Given the description of an element on the screen output the (x, y) to click on. 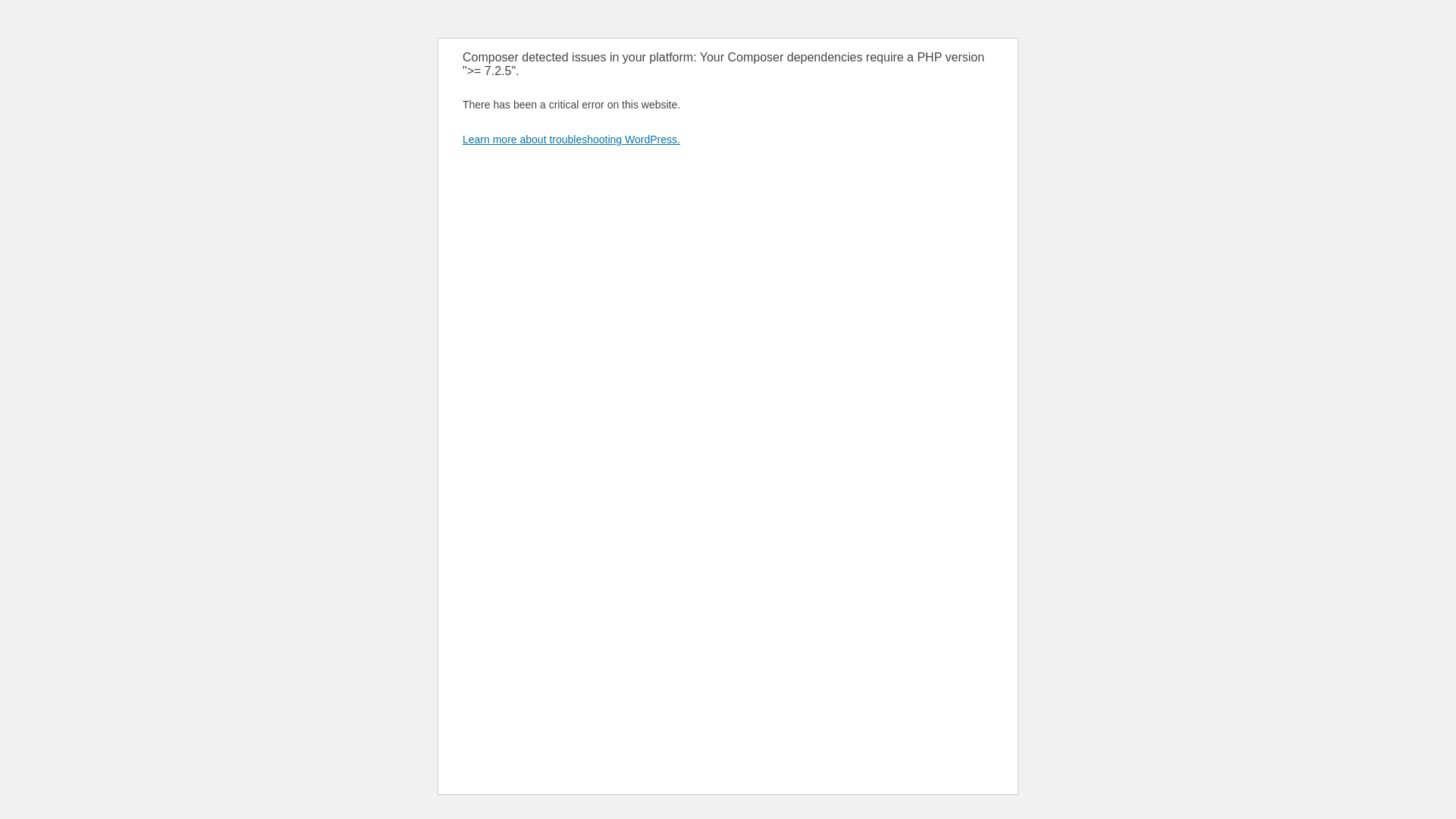
Learn more about troubleshooting WordPress. Element type: text (571, 139)
